Given the description of an element on the screen output the (x, y) to click on. 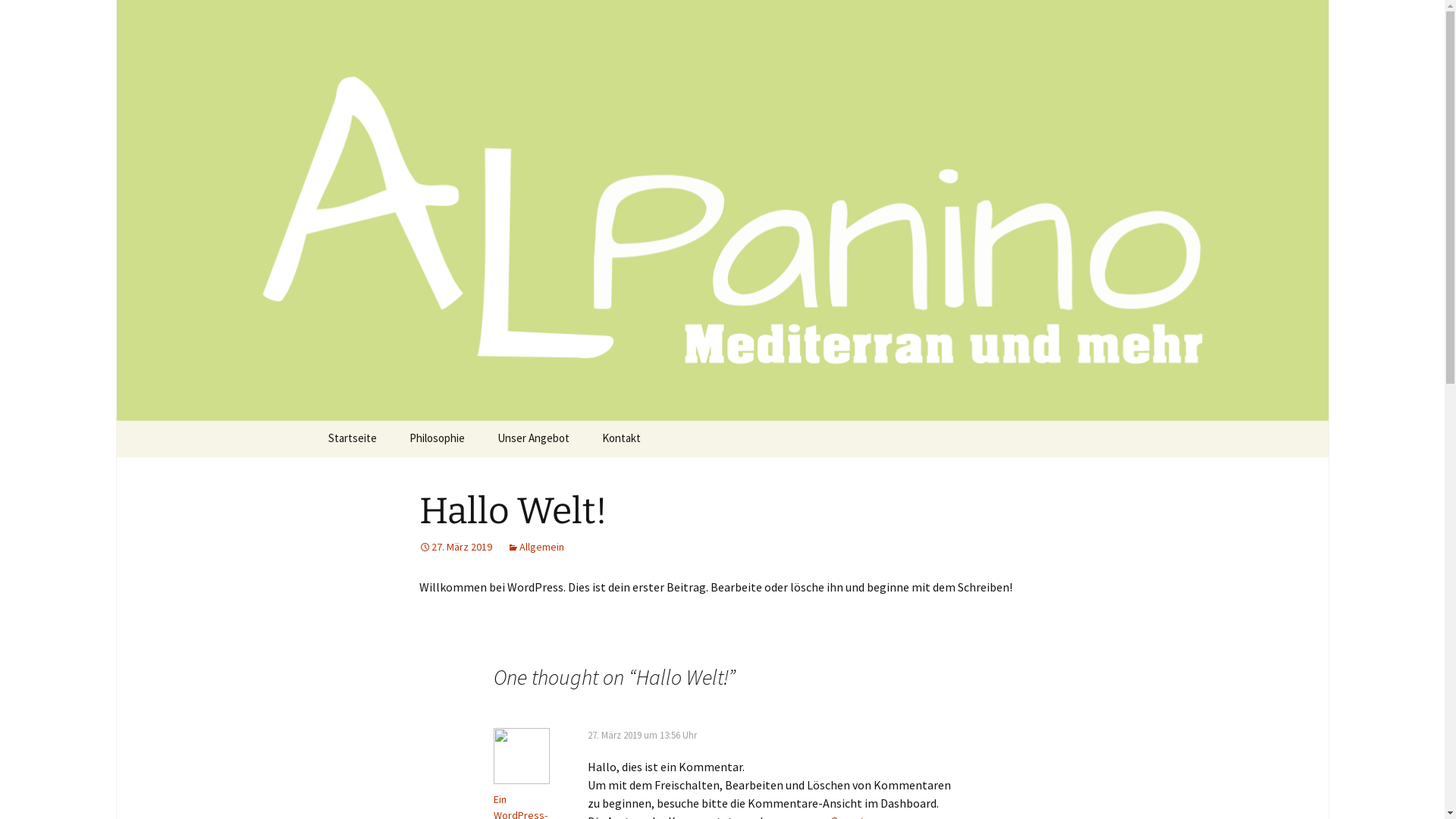
Startseite Element type: text (351, 438)
Skip to content Element type: text (352, 429)
Kontakt Element type: text (620, 438)
Allgemein Element type: text (534, 546)
Philosophie Element type: text (437, 438)
Unser Angebot Element type: text (533, 438)
